Given the description of an element on the screen output the (x, y) to click on. 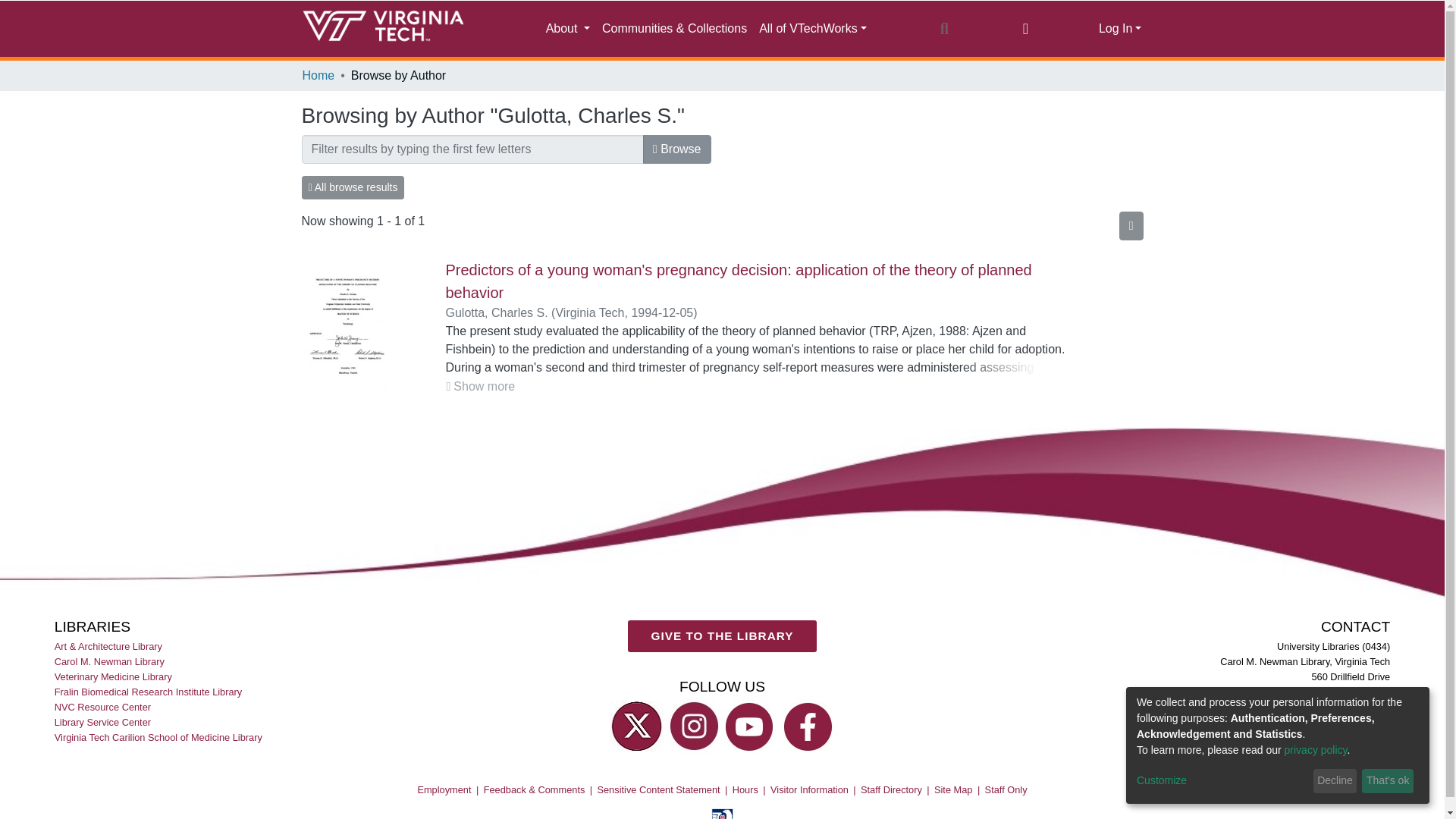
Log In (1119, 28)
Browse (677, 149)
Home (317, 75)
All of VTechWorks (812, 28)
All browse results (352, 187)
Language switch (1025, 28)
Search (943, 28)
About (567, 28)
